Given the description of an element on the screen output the (x, y) to click on. 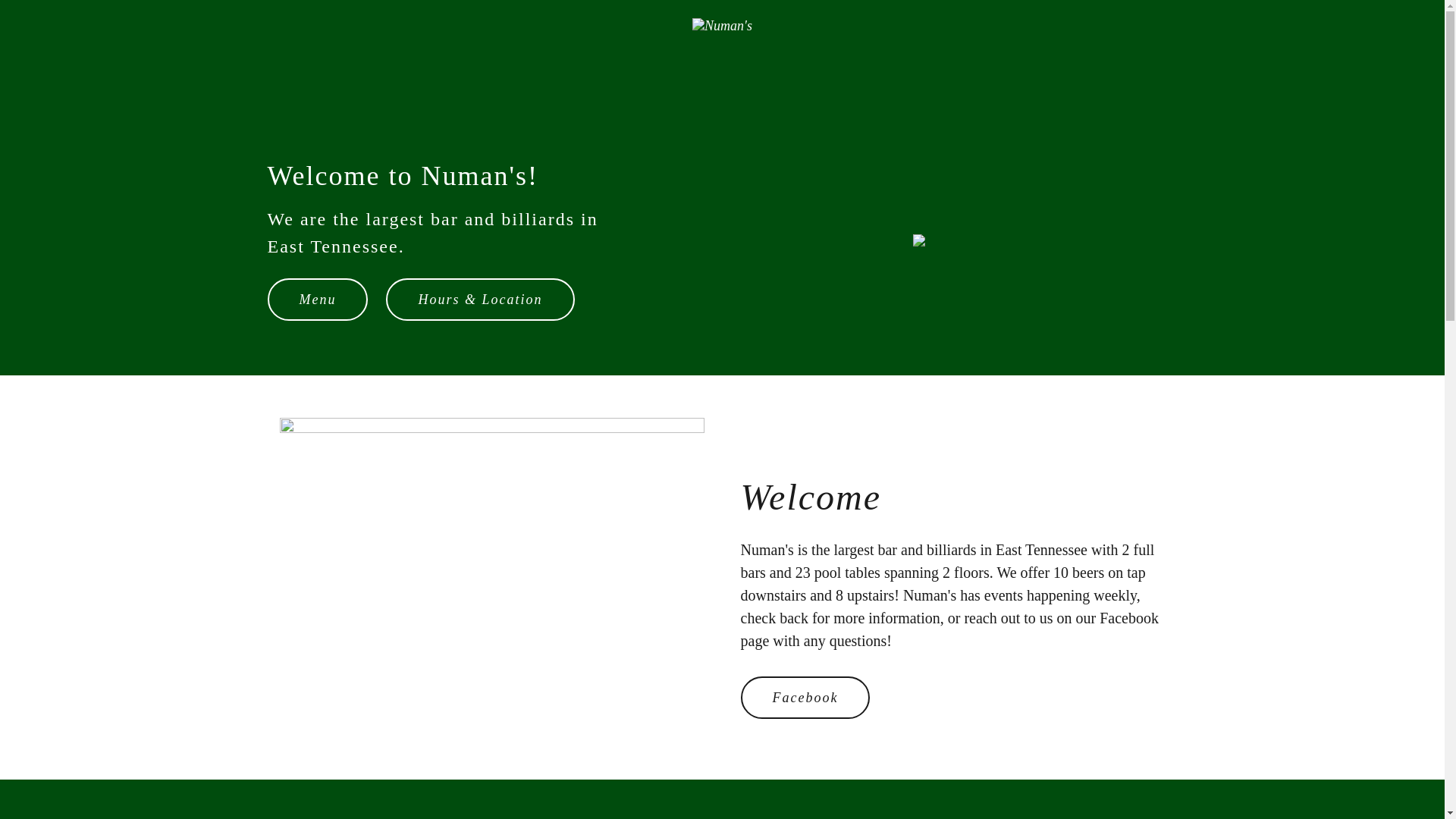
Menu (317, 299)
Numan's (721, 24)
Facebook (804, 697)
